Given the description of an element on the screen output the (x, y) to click on. 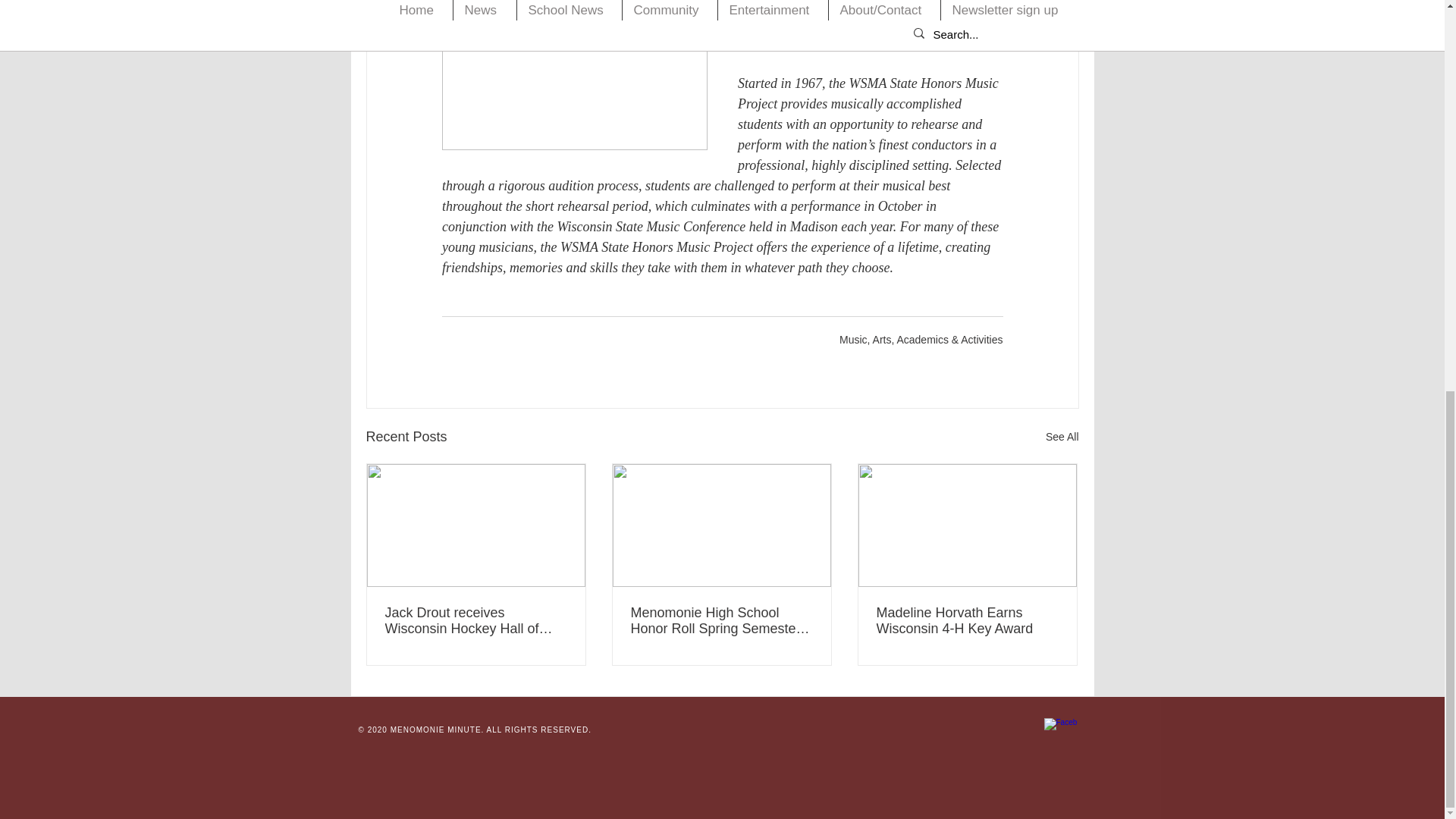
WSMA website (833, 42)
See All (1061, 436)
